Given the description of an element on the screen output the (x, y) to click on. 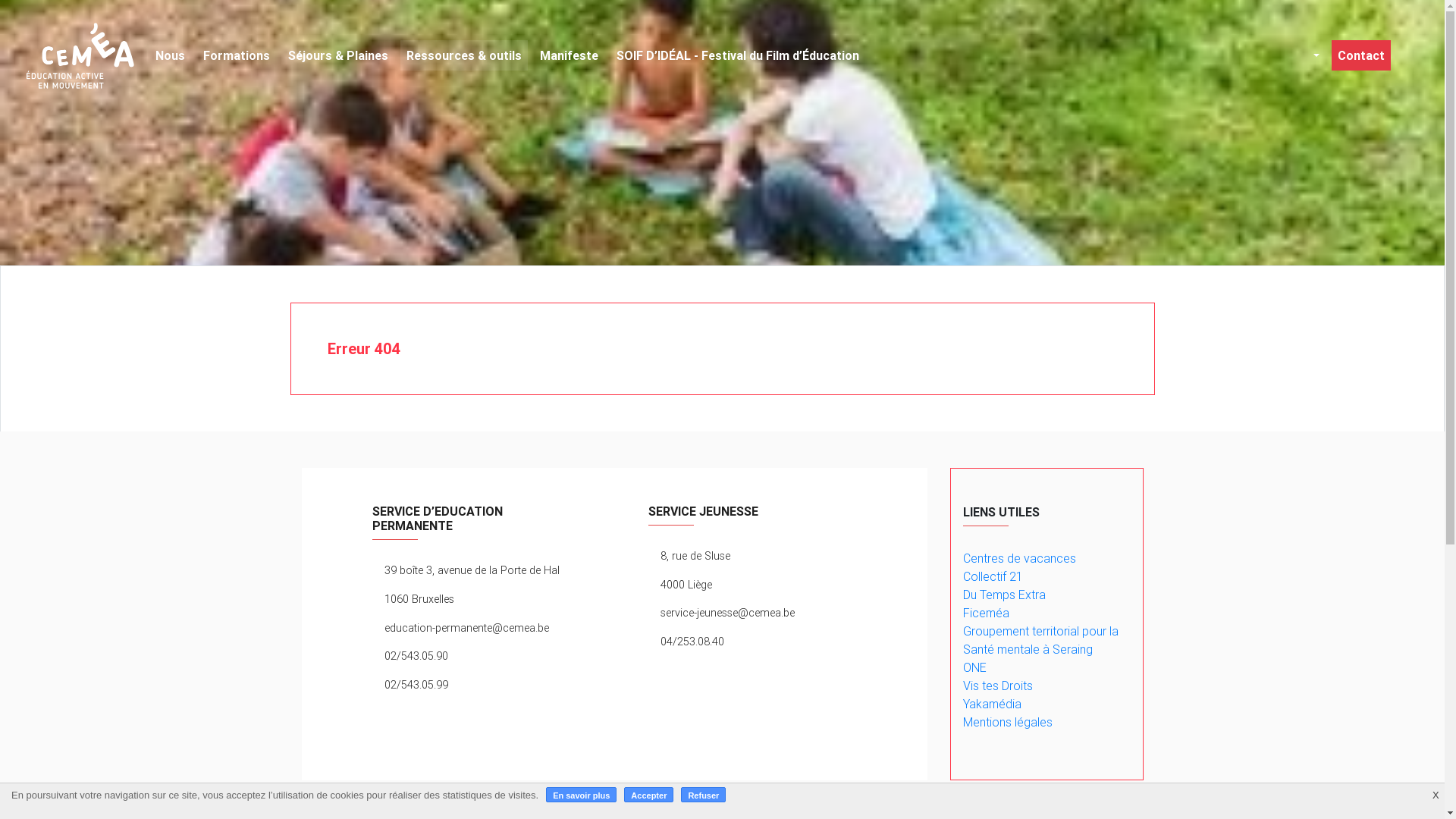
Manifeste Element type: text (568, 55)
X Element type: text (1435, 790)
Vis tes Droits Element type: text (997, 685)
Collectif 21 Element type: text (992, 575)
En savoir plus Element type: text (581, 794)
Formations Element type: text (236, 55)
Accepter Element type: text (648, 794)
ONE Element type: text (974, 666)
Contact Element type: text (1360, 55)
Refuser Element type: text (702, 794)
Ressources & outils Element type: text (463, 55)
Du Temps Extra Element type: text (1004, 594)
Centres de vacances Element type: text (1019, 557)
Nous Element type: text (170, 55)
